Given the description of an element on the screen output the (x, y) to click on. 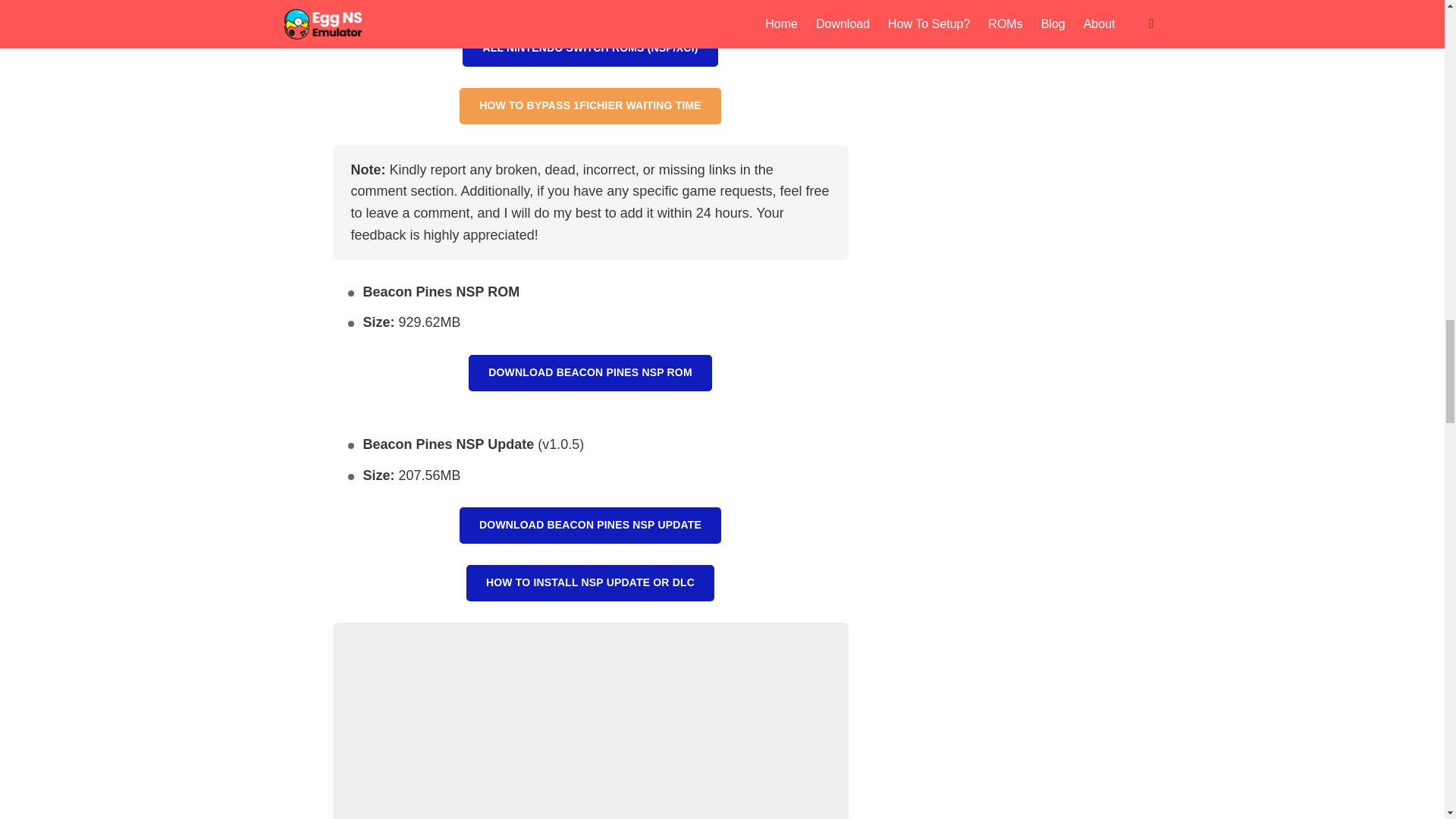
HOW TO INSTALL NSP UPDATE OR DLC (589, 583)
Beacon Pines - Launch Trailer - Nintendo Switch (589, 720)
DOWNLOAD BEACON PINES NSP UPDATE (590, 524)
DOWNLOAD BEACON PINES NSP ROM (589, 372)
HOW TO BYPASS 1FICHIER WAITING TIME (590, 105)
